Given the description of an element on the screen output the (x, y) to click on. 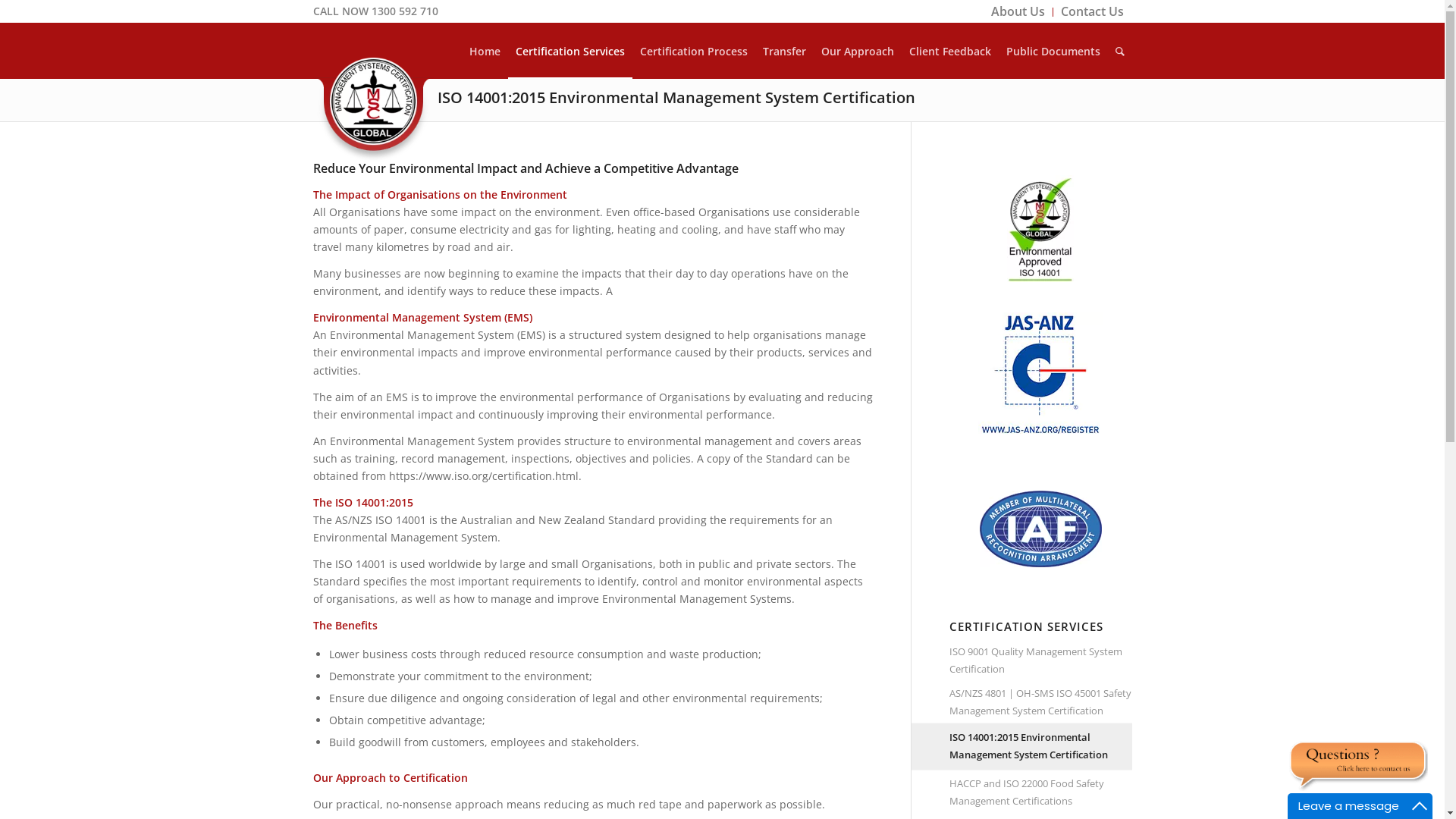
Home Element type: text (484, 50)
ISO 14001:2015 Environmental Management System Certification Element type: text (1040, 746)
msclogo Element type: hover (372, 109)
Our Approach Element type: text (856, 50)
ISO 9001 Quality Management System Certification Element type: text (1040, 660)
Public Documents Element type: text (1052, 50)
HACCP and ISO 22000 Food Safety Management Certifications Element type: text (1040, 792)
Certification Process Element type: text (693, 50)
Transfer Element type: text (784, 50)
ISO 14001:2015 Environmental Management System Certification Element type: text (675, 97)
Client Feedback Element type: text (948, 50)
Maximize Element type: hover (1419, 806)
Certification Services Element type: text (570, 50)
